Given the description of an element on the screen output the (x, y) to click on. 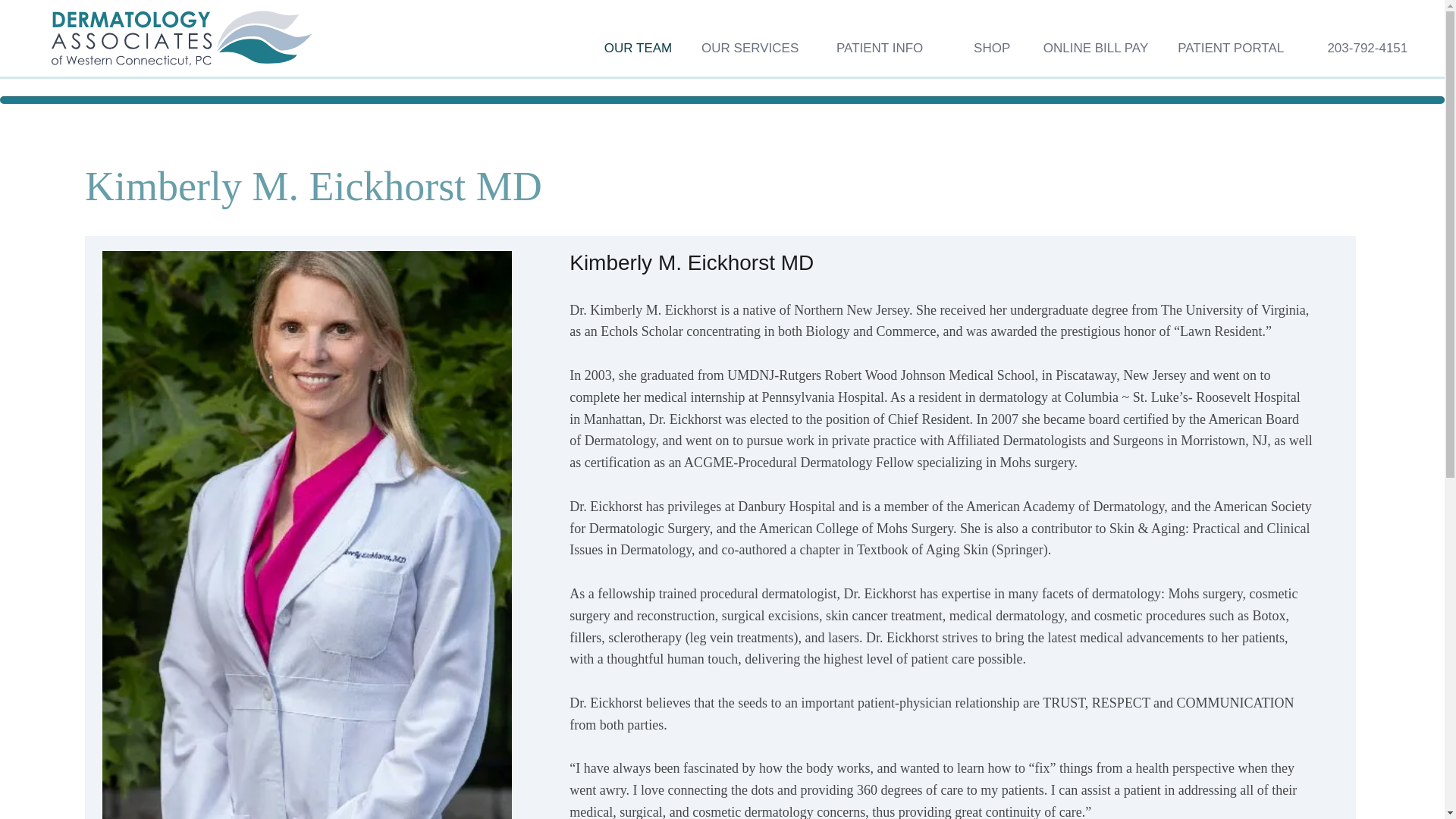
OUR TEAM (627, 48)
203-792-4151 (1356, 48)
ONLINE BILL PAY (1090, 48)
SHOP (978, 48)
PATIENT PORTAL (1226, 48)
